Given the description of an element on the screen output the (x, y) to click on. 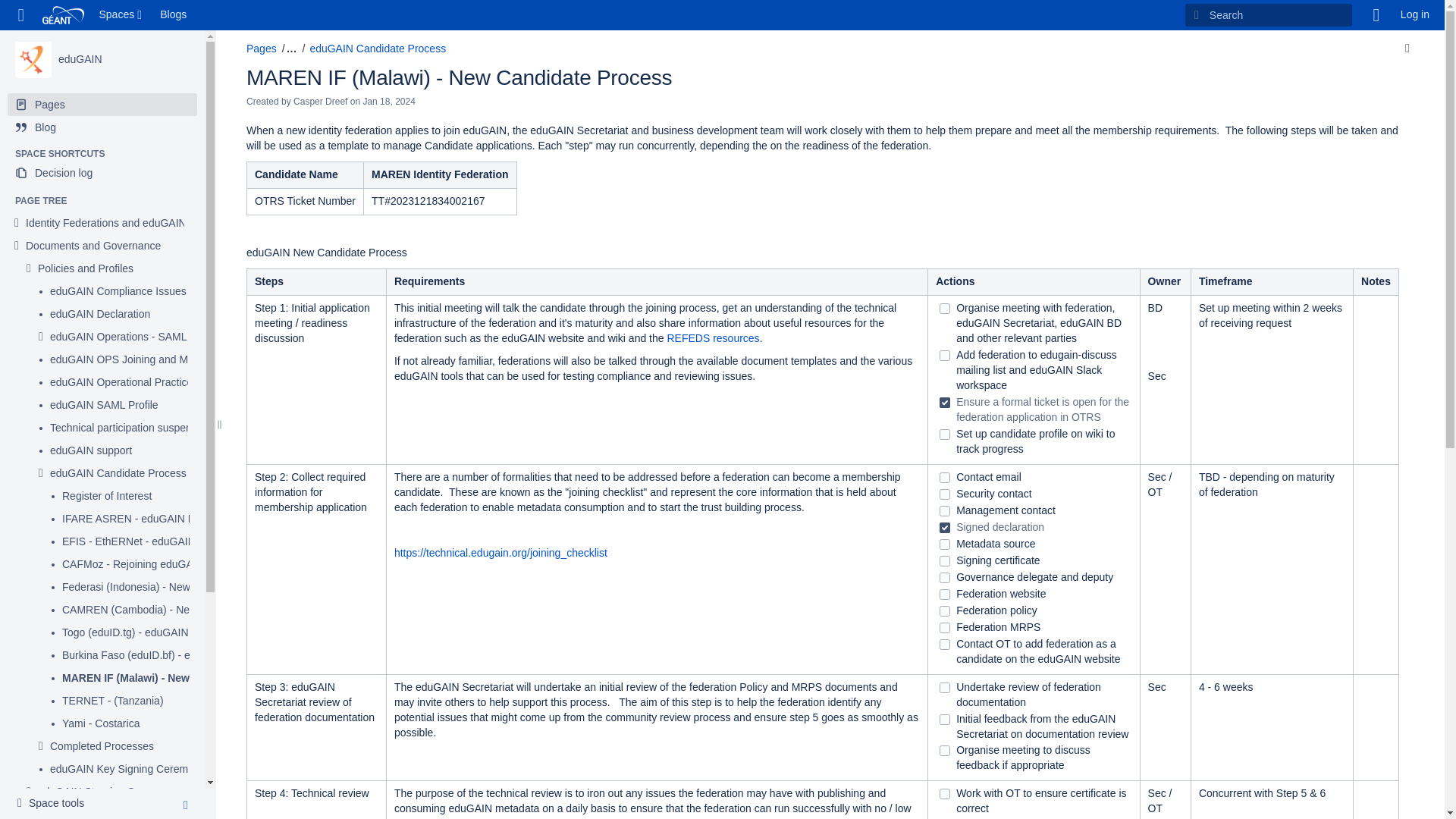
Policies and Profiles (85, 268)
Log in (1415, 15)
Pages (101, 104)
eduGAIN Compliance Issues (117, 291)
Help (1376, 15)
eduGAIN (32, 59)
Identity Federations and eduGAIN (106, 223)
eduGAIN (79, 59)
Linked Applications (20, 15)
Spaces (121, 15)
eduGAIN Declaration (99, 314)
eduGAIN Operations - SAML (118, 337)
Register of Interest (106, 496)
Documents and Governance (93, 246)
eduGAIN SAML Profile (103, 405)
